Given the description of an element on the screen output the (x, y) to click on. 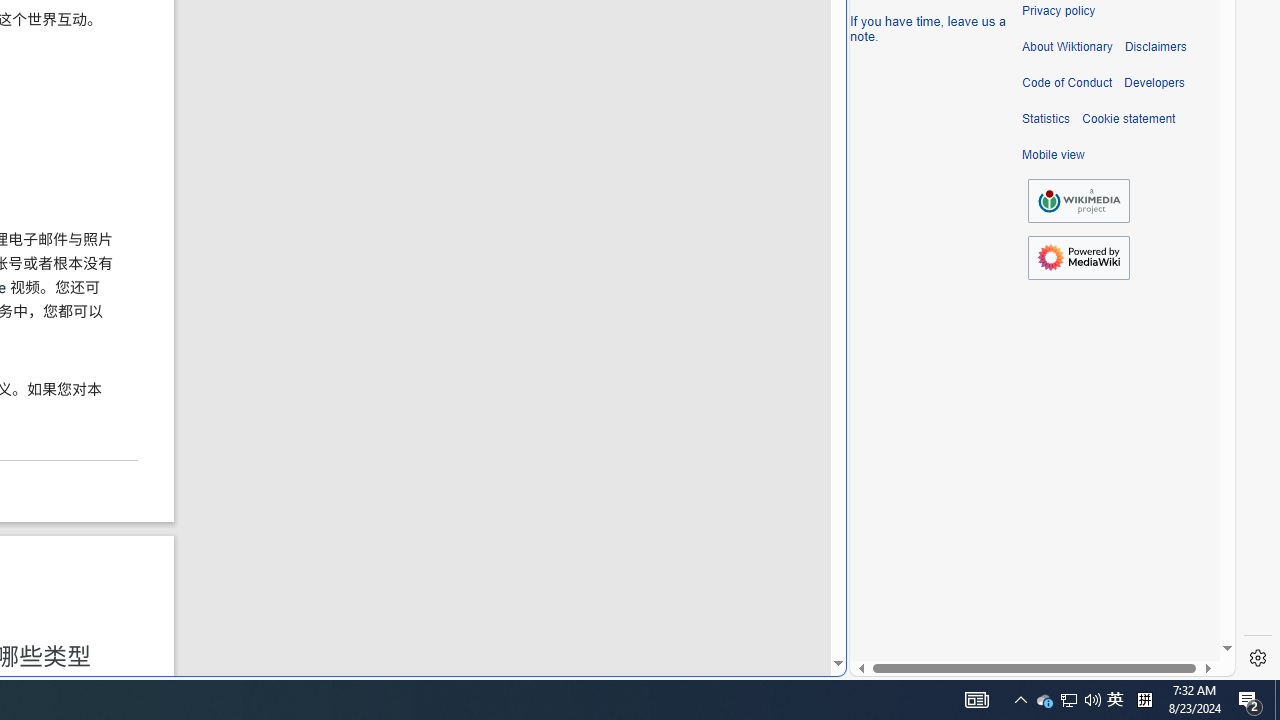
Code of Conduct (1067, 83)
Privacy policy (1058, 11)
Statistics (1046, 119)
Cookie statement (1128, 119)
AutomationID: footer-copyrightico (1078, 200)
Wikimedia Foundation (1078, 200)
Disclaimers (1154, 47)
Developers (1154, 83)
Actions for this site (1129, 306)
google_privacy_policy_zh-CN.pdf (687, 482)
